Given the description of an element on the screen output the (x, y) to click on. 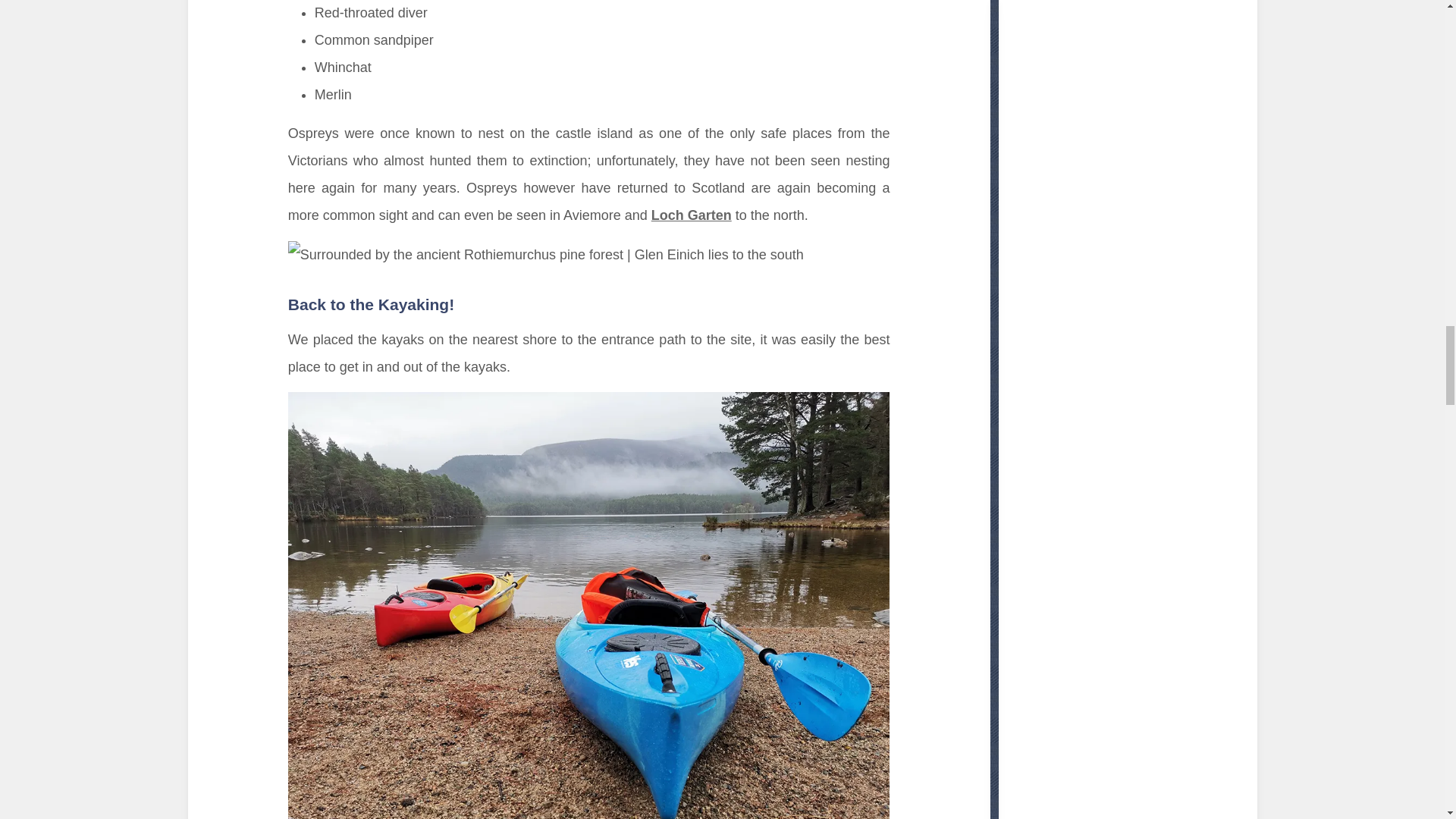
Loch Garten (691, 215)
